Given the description of an element on the screen output the (x, y) to click on. 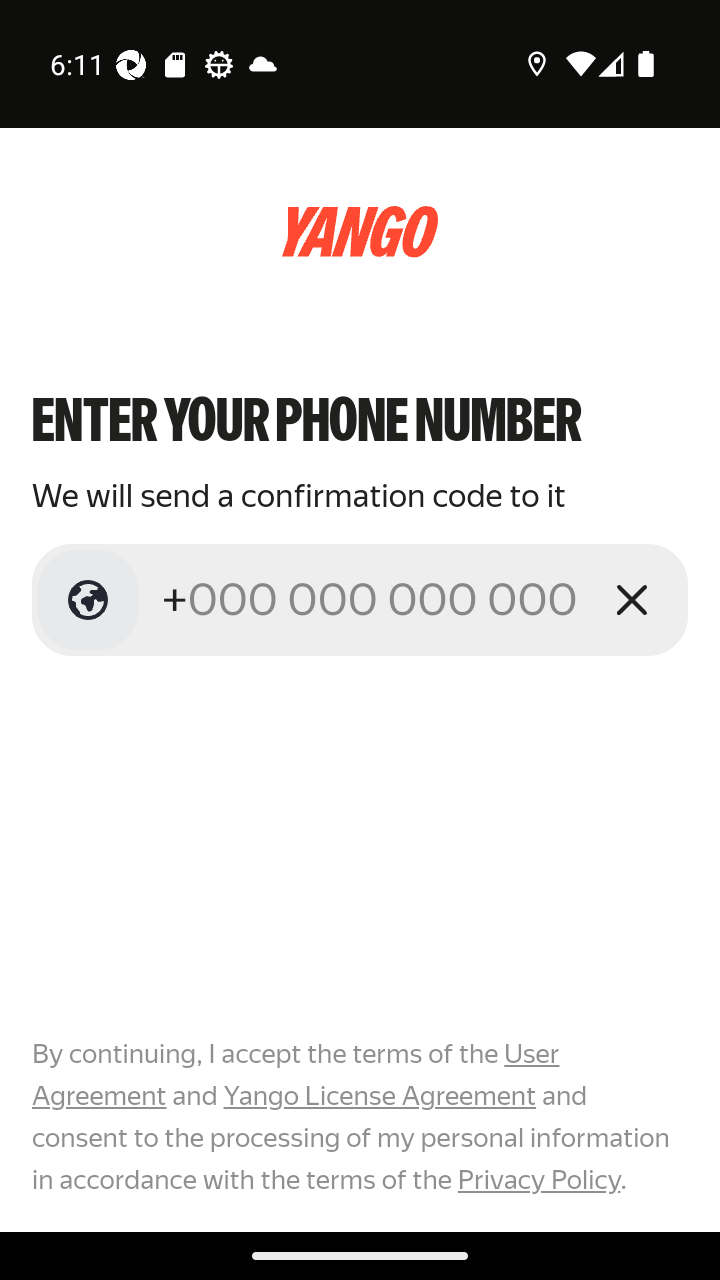
logo (359, 231)
  (88, 600)
+ (372, 599)
User Agreement (295, 1075)
Yango License Agreement (379, 1096)
Privacy Policy (538, 1179)
